Given the description of an element on the screen output the (x, y) to click on. 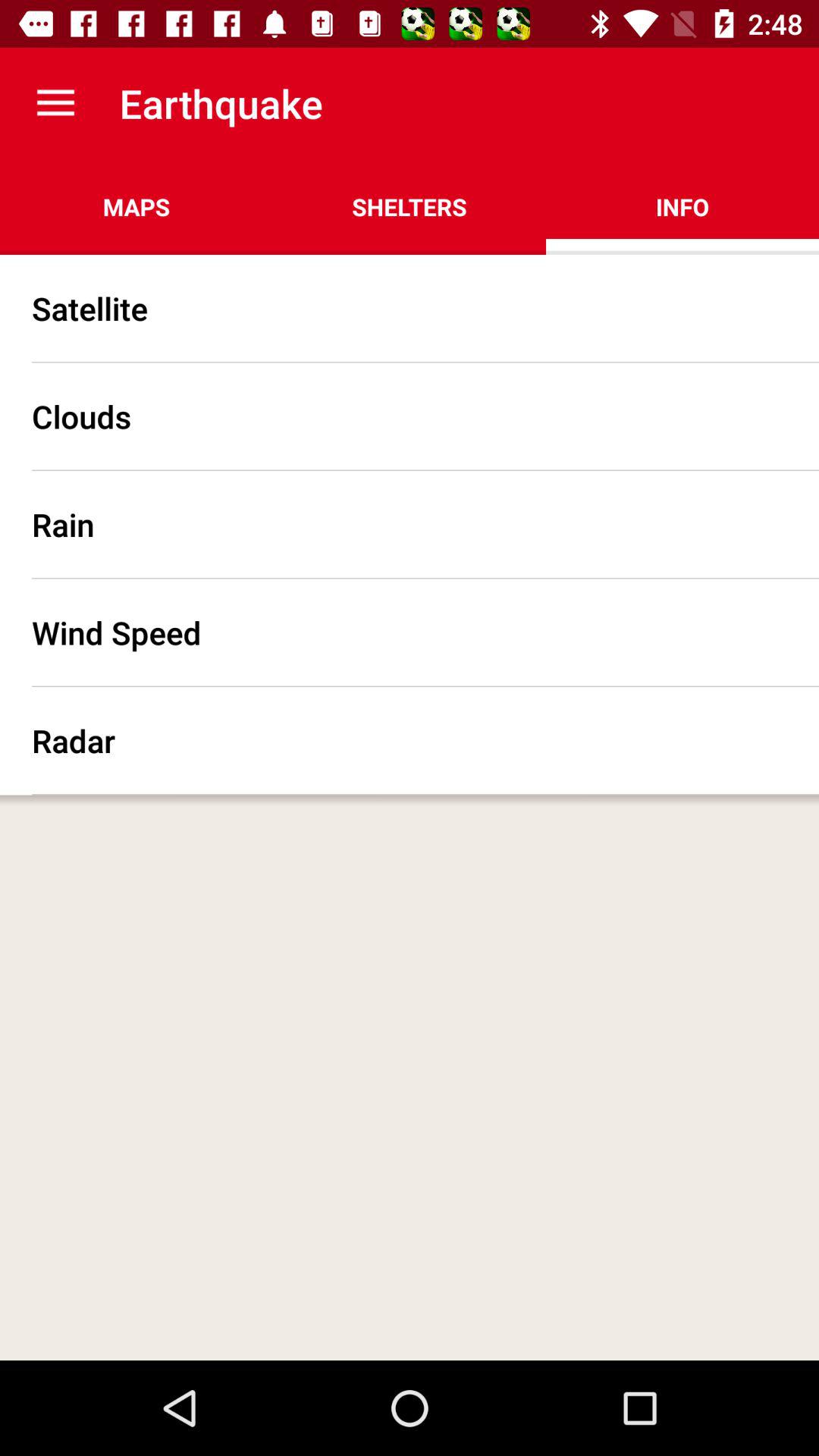
click the app next to the maps app (409, 206)
